Given the description of an element on the screen output the (x, y) to click on. 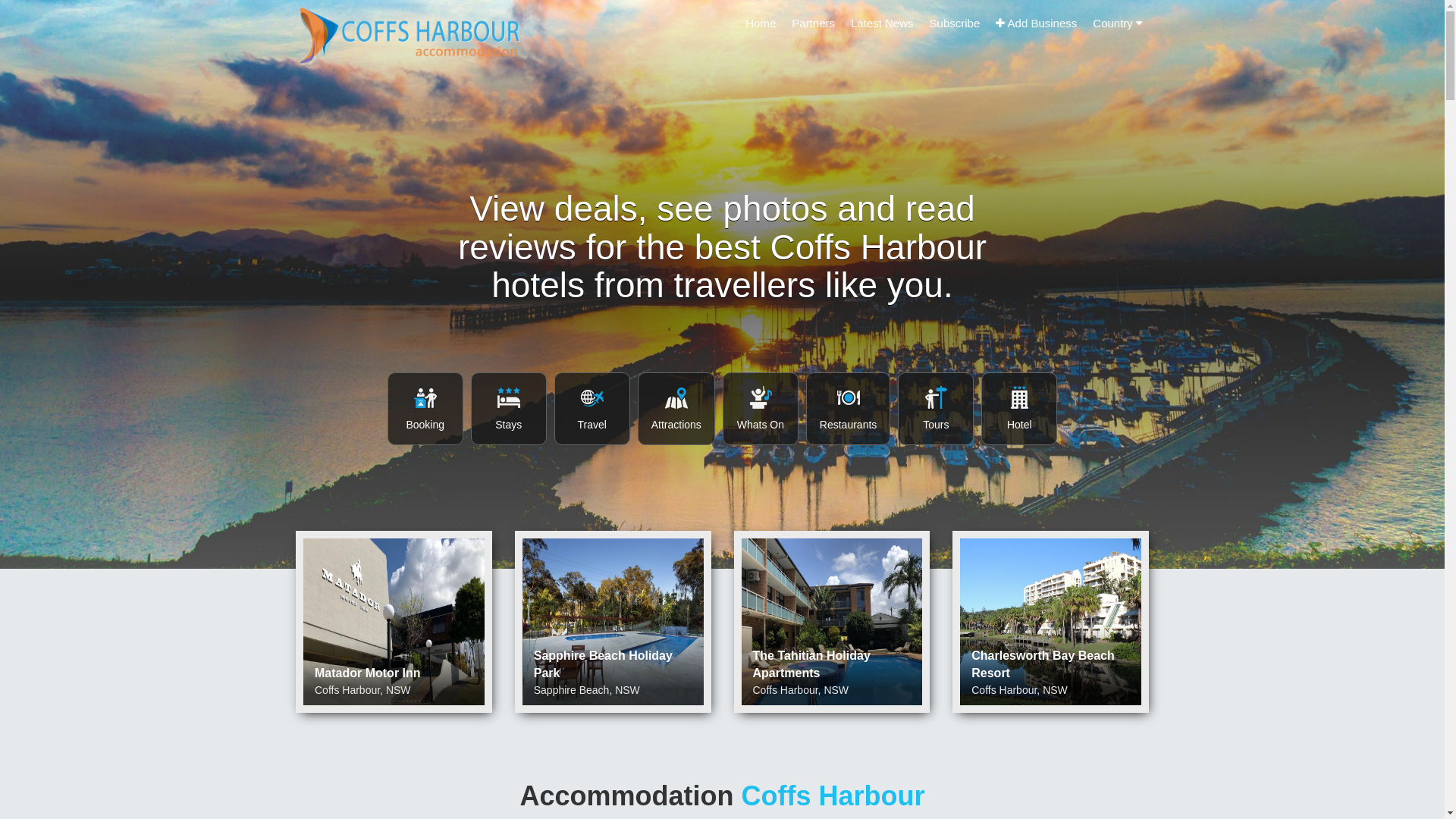
Travel Accommodation Coffs Harbour Element type: hover (592, 408)
Whats On Accommodation Coffs Harbour Element type: hover (760, 408)
Stays Accommodation Coffs Harbour Element type: hover (508, 408)
Booking Accommodation Coffs Harbour Element type: hover (425, 408)
Accommodation Coffs Harbour Home Page Element type: hover (409, 34)
Sapphire Beach Holiday Park
Sapphire Beach, NSW Element type: text (612, 621)
Latest News Element type: text (881, 23)
Subscribe Element type: text (954, 23)
The Tahitian Holiday Apartments
Coffs Harbour, NSW Element type: text (832, 621)
Matador Motor Inn
Coffs Harbour, NSW Element type: text (393, 621)
Charlesworth Bay Beach Resort
Coffs Harbour, NSW Element type: text (1050, 621)
Restaurants Accommodation Coffs Harbour Element type: hover (847, 408)
Hotel Accommodation Coffs Harbour Element type: hover (1019, 408)
Attractions Accommodation Coffs Harbour Element type: hover (676, 408)
Add Business Element type: text (1035, 23)
Partners Element type: text (812, 23)
Tours Accommodation Coffs Harbour Element type: hover (935, 408)
Home Element type: text (760, 23)
Country Element type: text (1117, 23)
